Given the description of an element on the screen output the (x, y) to click on. 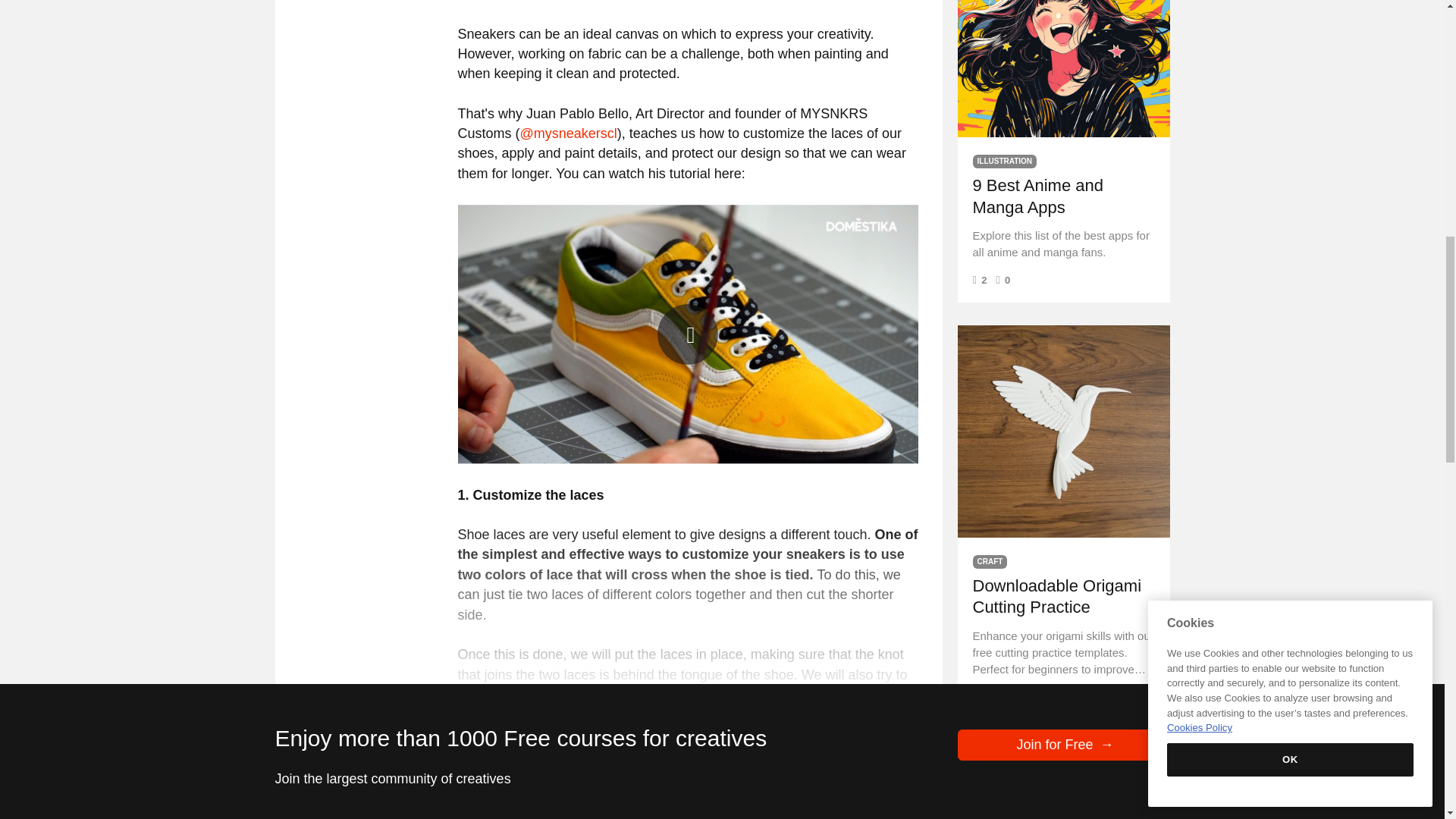
mysneakerscl (568, 133)
Downloadable Origami Cutting Practice (1062, 431)
9 Best Anime and Manga Apps (1062, 68)
